Given the description of an element on the screen output the (x, y) to click on. 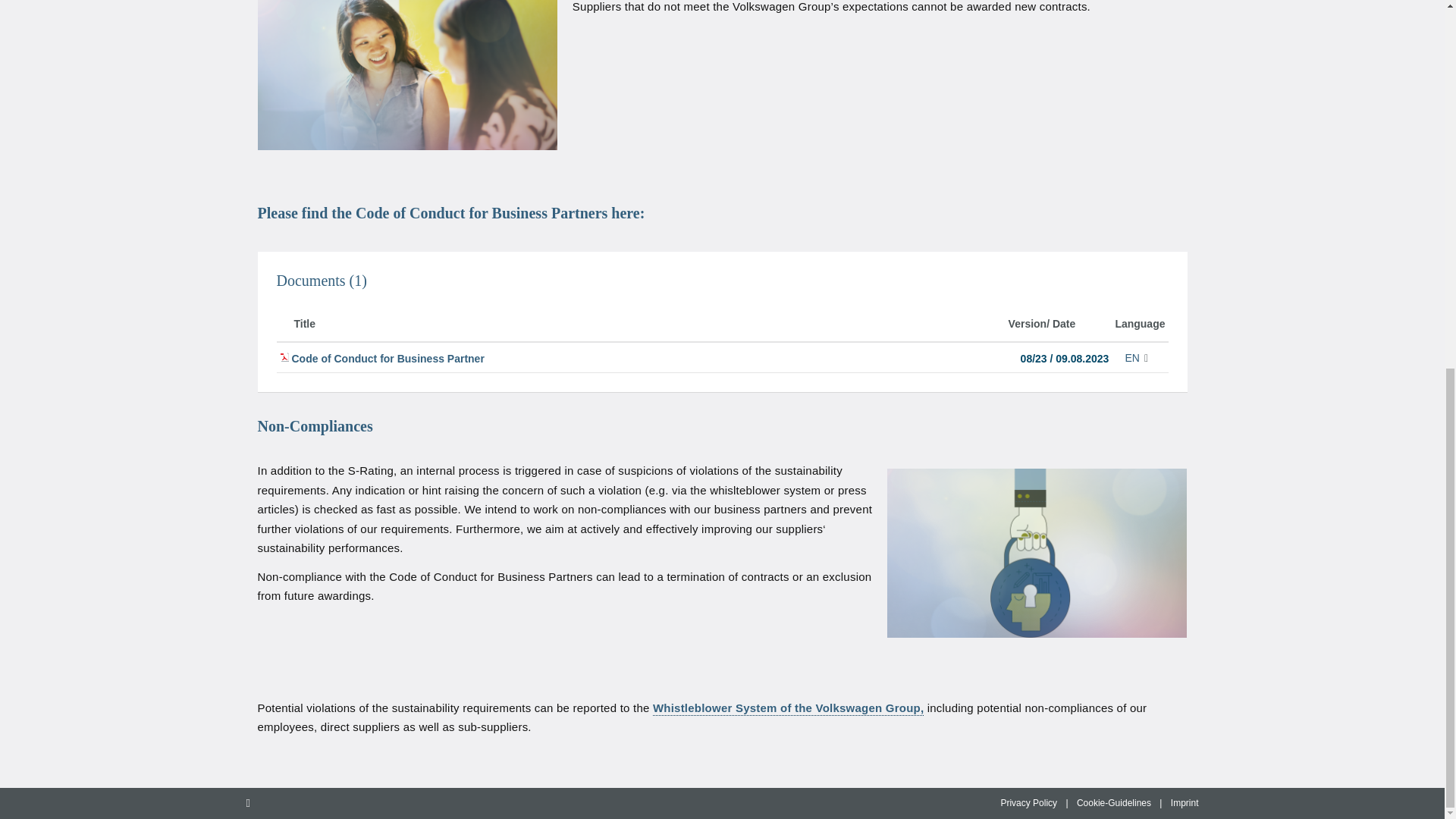
Whistleblower System of the Volkswagen Group, (787, 707)
Code of Conduct for Business Partner (387, 358)
Cookie-Guidelines (1114, 802)
EN (1139, 357)
